Given the description of an element on the screen output the (x, y) to click on. 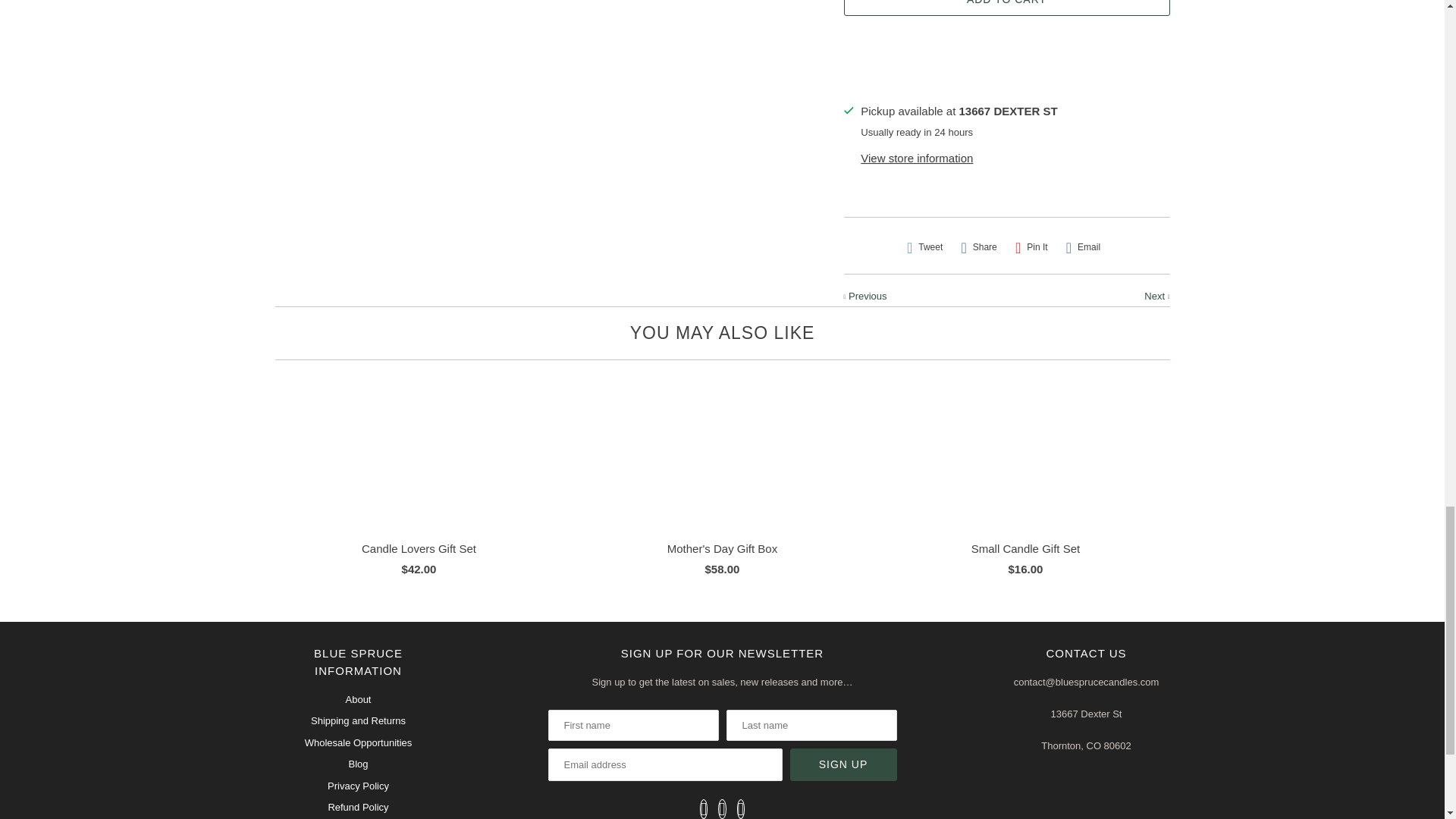
Email this to a friend (1083, 247)
Share this on Facebook (978, 247)
Share this on Pinterest (1031, 247)
Share this on Twitter (924, 247)
Sign Up (843, 764)
